Given the description of an element on the screen output the (x, y) to click on. 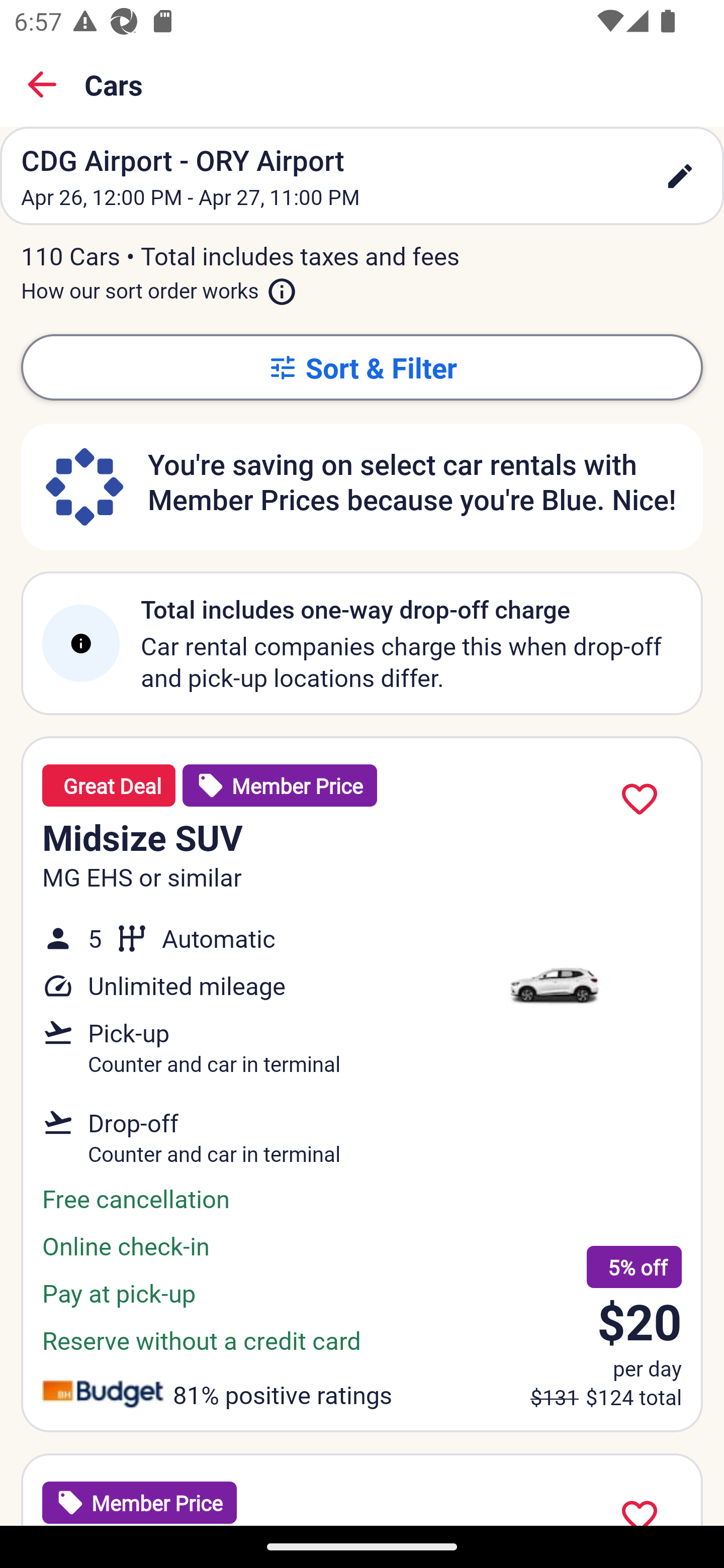
Back (42, 84)
edit (679, 175)
How our sort order works (158, 286)
Sort & Filter (361, 366)
